Given the description of an element on the screen output the (x, y) to click on. 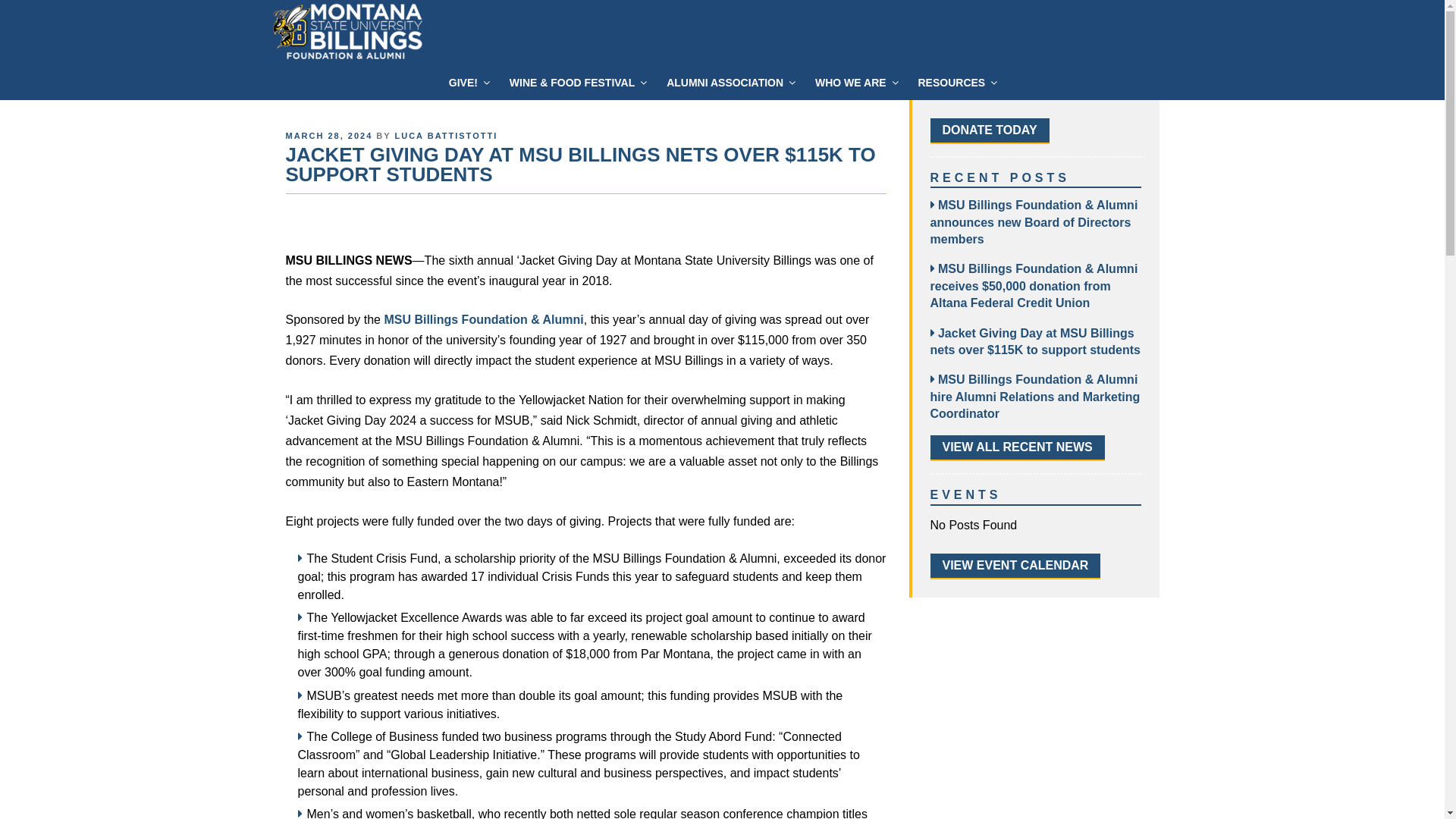
ALUMNI ASSOCIATION (730, 82)
Make a Gift to MSUB Foundation (989, 130)
GIVE! (468, 82)
WHO WE ARE (855, 82)
RESOURCES (956, 82)
